Given the description of an element on the screen output the (x, y) to click on. 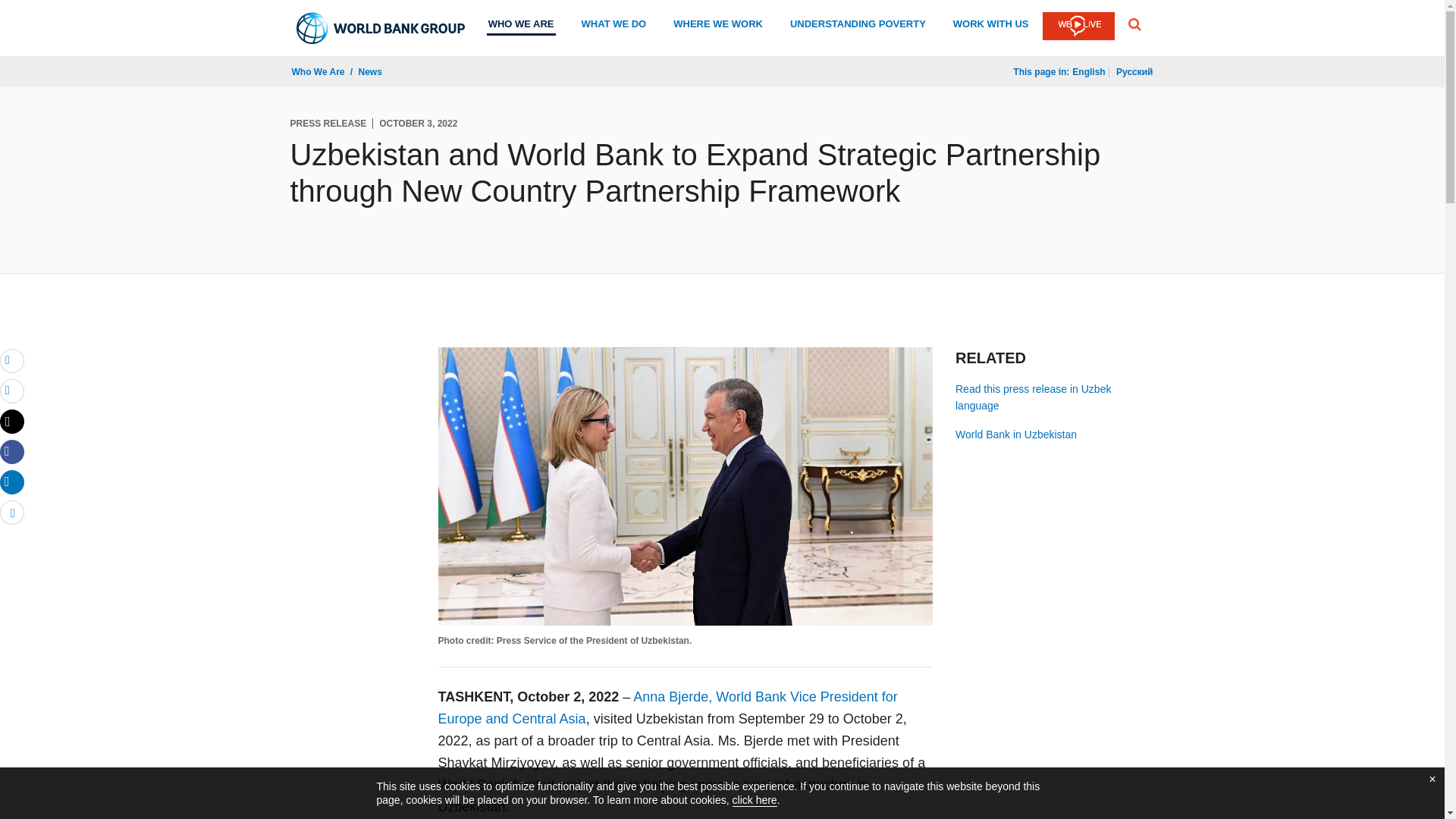
WHO WE ARE (521, 25)
Share (12, 482)
Global Search (1134, 24)
The World Bank Group logo (380, 28)
WHAT WE DO (613, 25)
Print (12, 391)
Share (12, 512)
Tweet (12, 421)
